Given the description of an element on the screen output the (x, y) to click on. 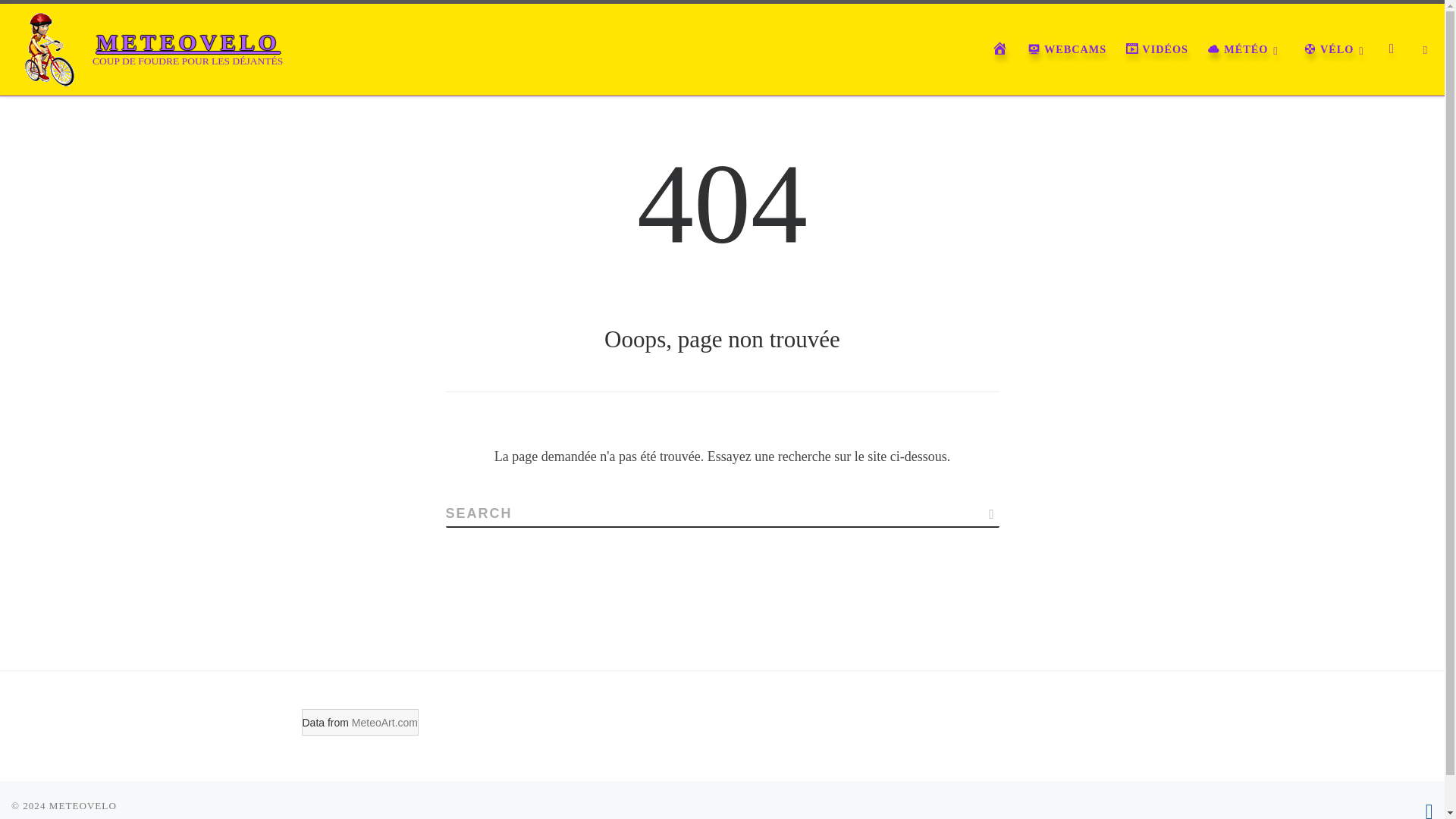
WEBCAMS (1066, 49)
METEOVELO (82, 805)
METEOVELO (188, 42)
